Given the description of an element on the screen output the (x, y) to click on. 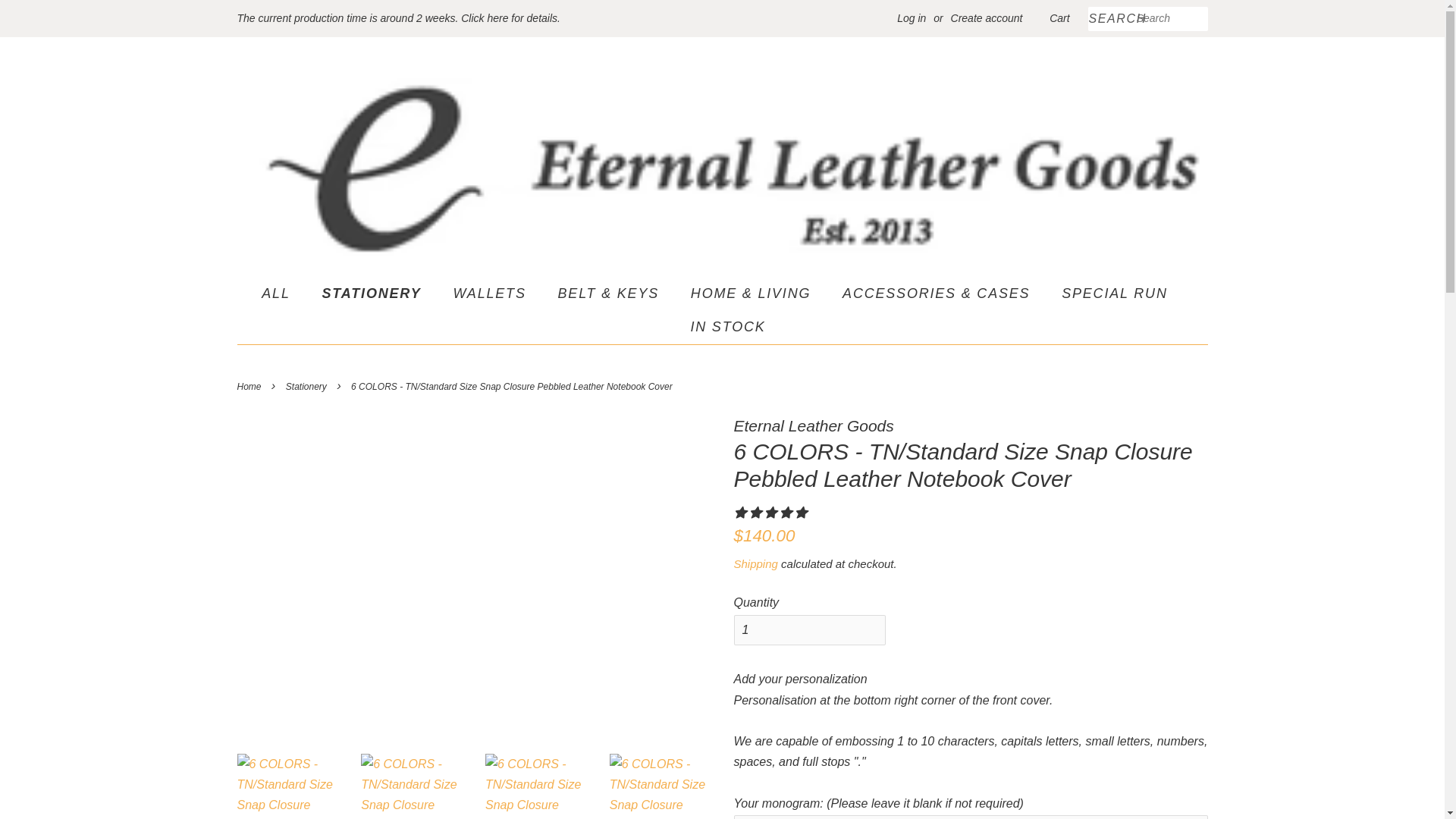
Create account (986, 18)
Cart (1058, 18)
Back to the frontpage (249, 386)
Log in (911, 18)
1 (809, 630)
SEARCH (1111, 18)
